Given the description of an element on the screen output the (x, y) to click on. 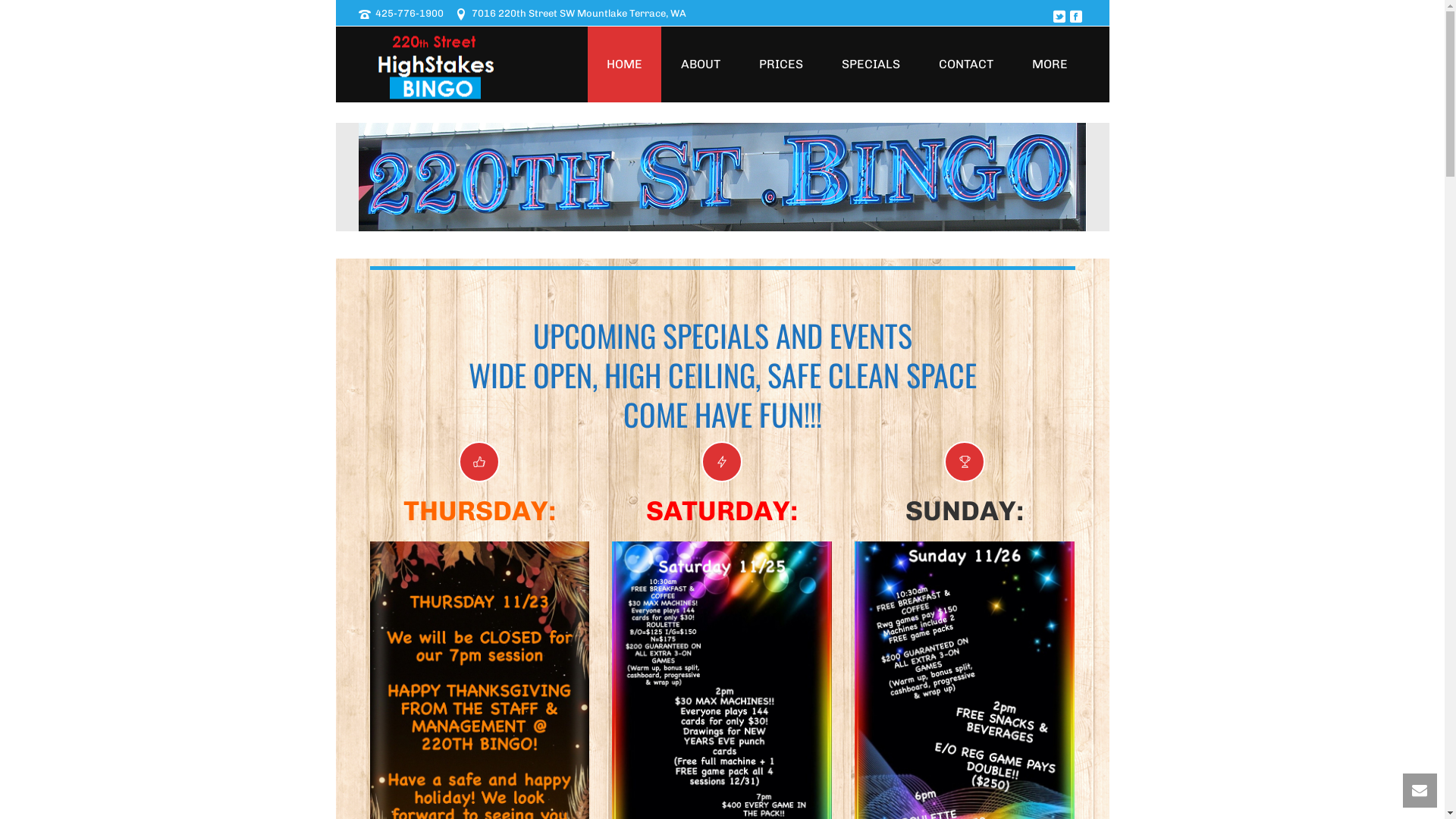
ABOUT Element type: text (699, 64)
facebook Element type: hover (1075, 17)
MORE Element type: text (1049, 64)
HOME Element type: text (623, 64)
PRICES Element type: text (781, 64)
SPECIALS Element type: text (870, 64)
twitter Element type: hover (1058, 17)
CONTACT Element type: text (965, 64)
